Given the description of an element on the screen output the (x, y) to click on. 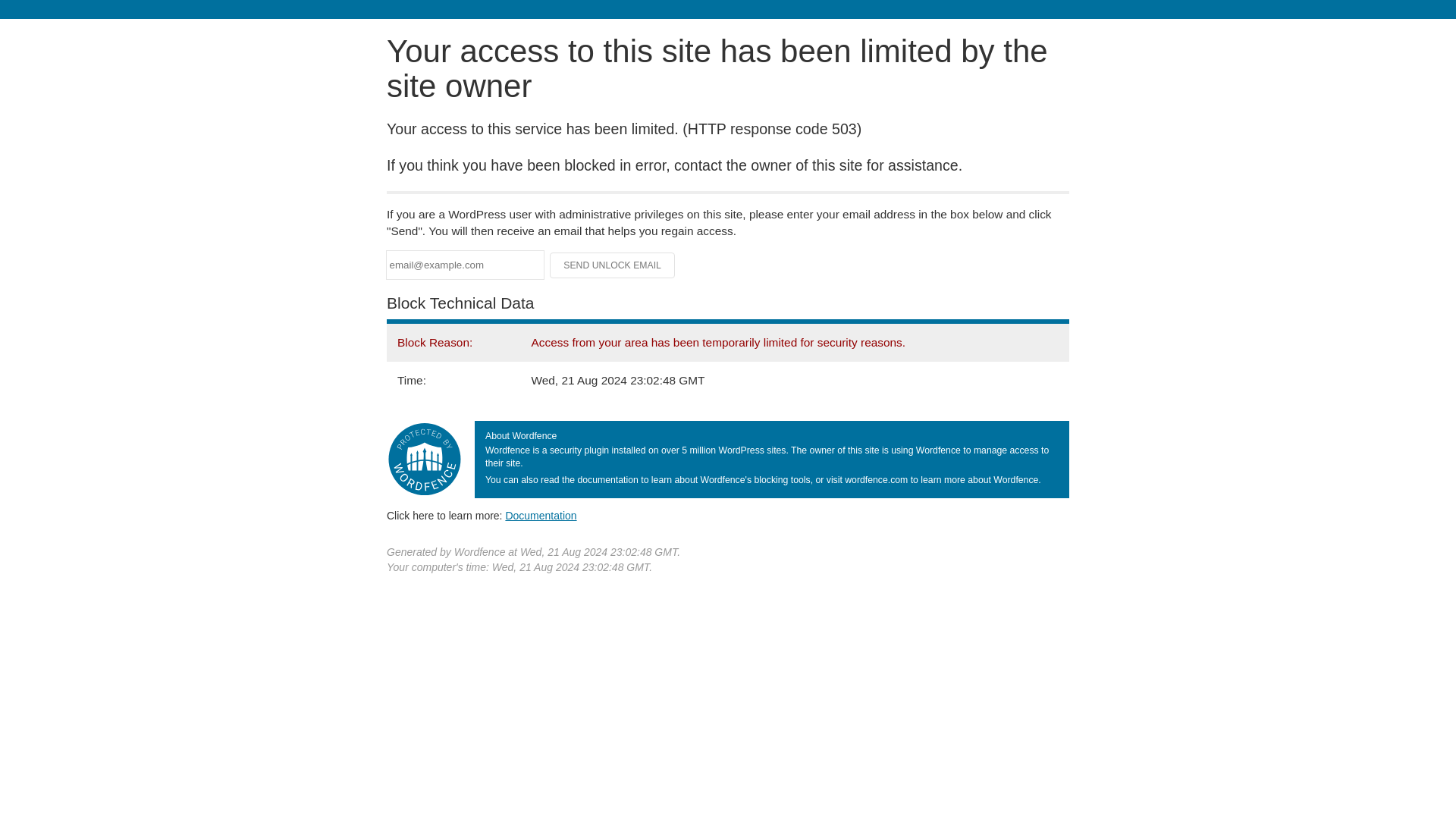
Send Unlock Email (612, 265)
Send Unlock Email (612, 265)
Documentation (540, 515)
